Given the description of an element on the screen output the (x, y) to click on. 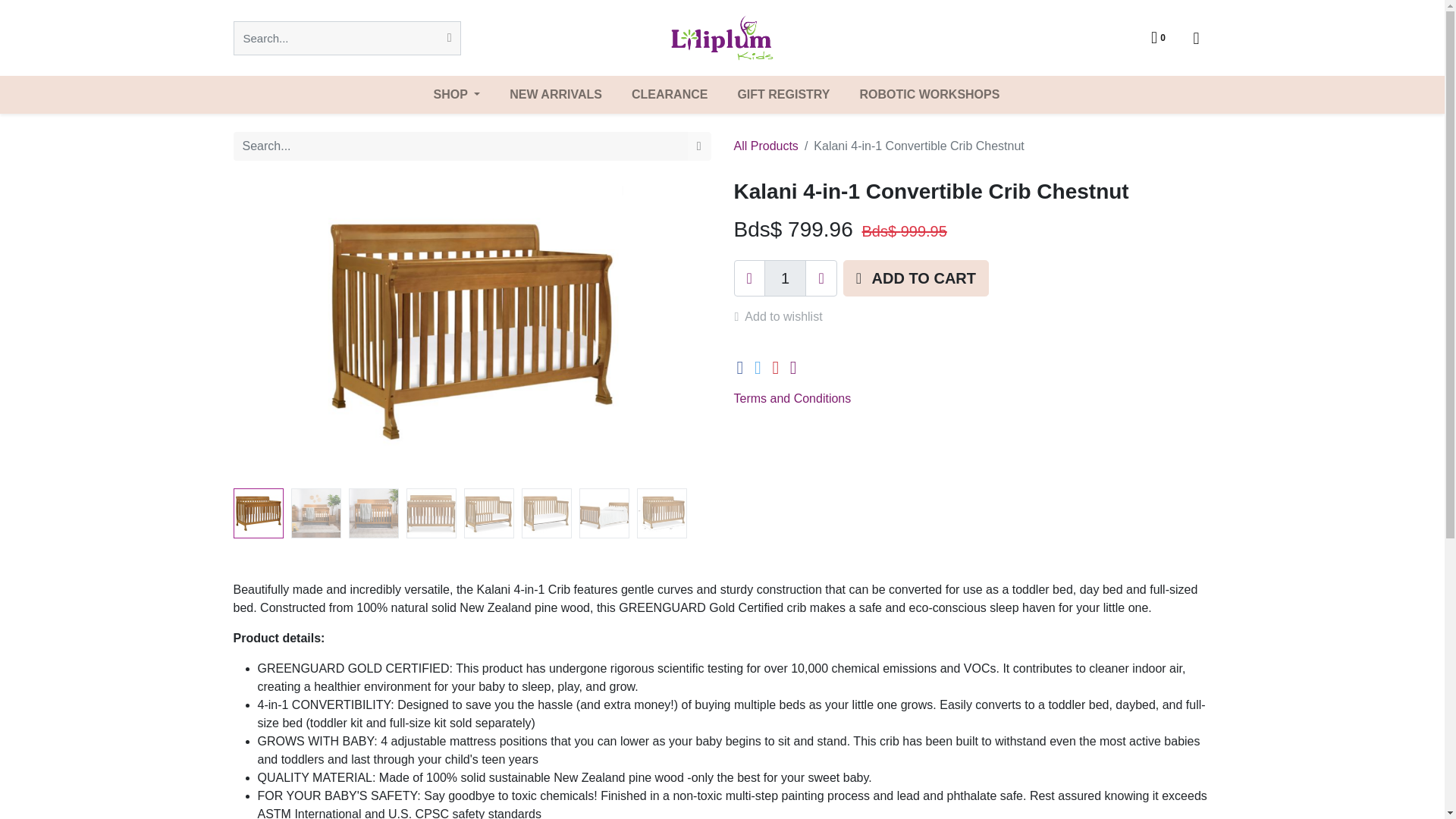
Add to wishlist (784, 316)
NEW ARRIVALS (555, 94)
1 (785, 278)
0 (1157, 37)
Liliplum Kids (722, 37)
SHOP (457, 94)
